Given the description of an element on the screen output the (x, y) to click on. 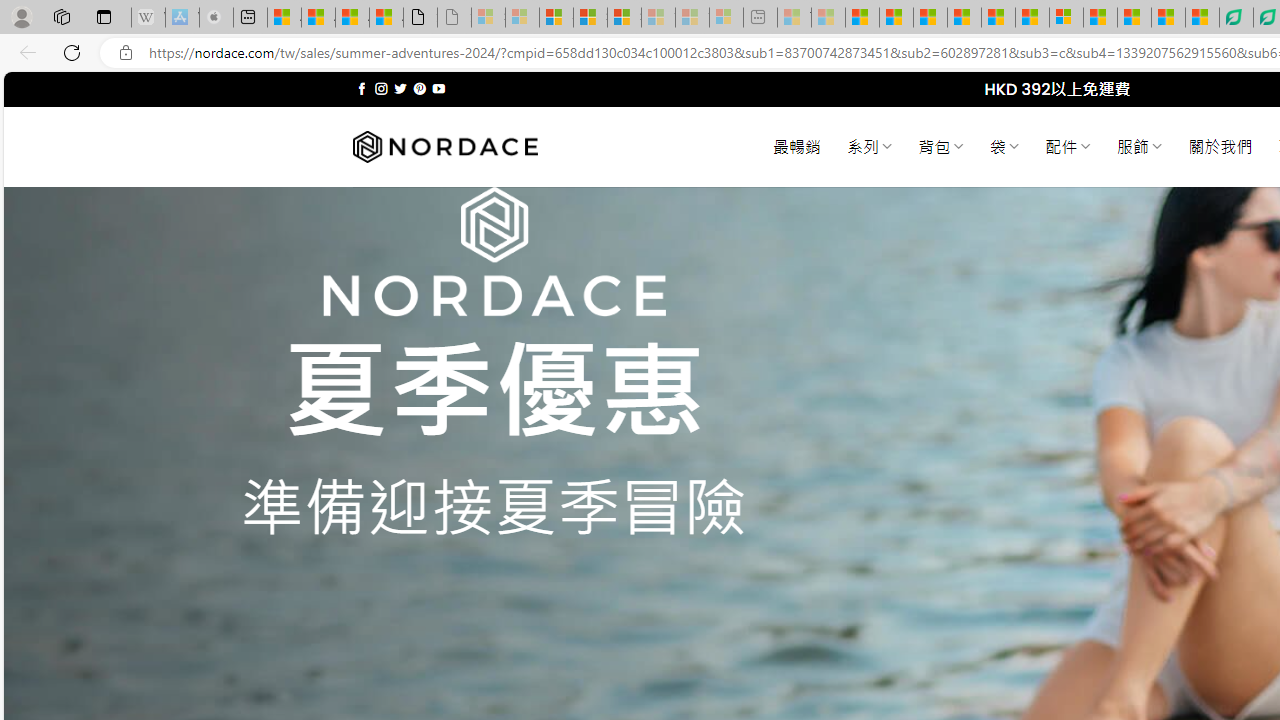
Nordace (444, 147)
Marine life - MSN - Sleeping (827, 17)
Nordace (444, 147)
Buy iPad - Apple - Sleeping (215, 17)
